Given the description of an element on the screen output the (x, y) to click on. 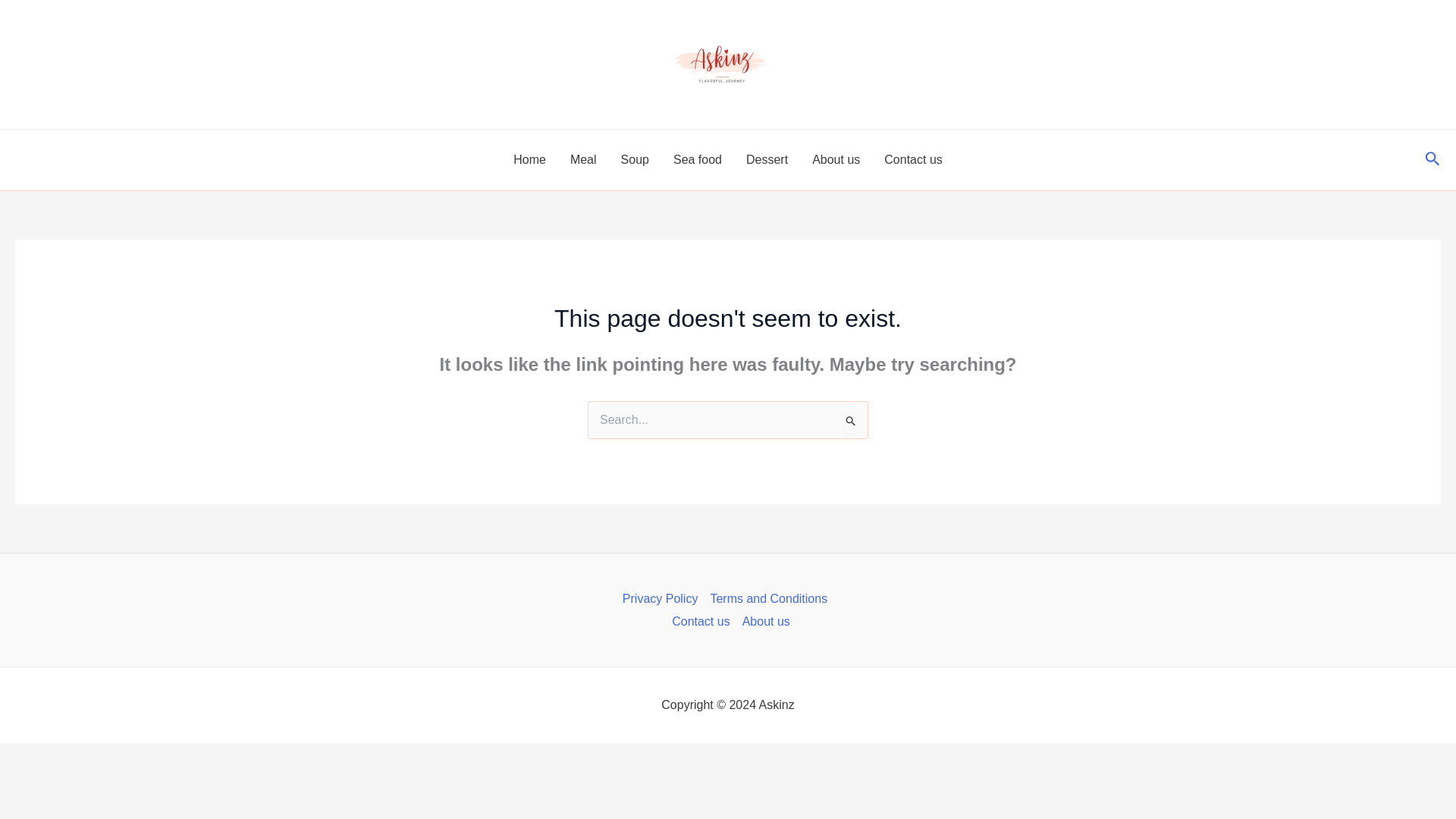
Privacy Policy (663, 599)
Home (528, 159)
Terms and Conditions (767, 599)
Contact us (700, 621)
About us (835, 159)
Sea food (697, 159)
About us (763, 621)
Dessert (766, 159)
Contact us (912, 159)
